Given the description of an element on the screen output the (x, y) to click on. 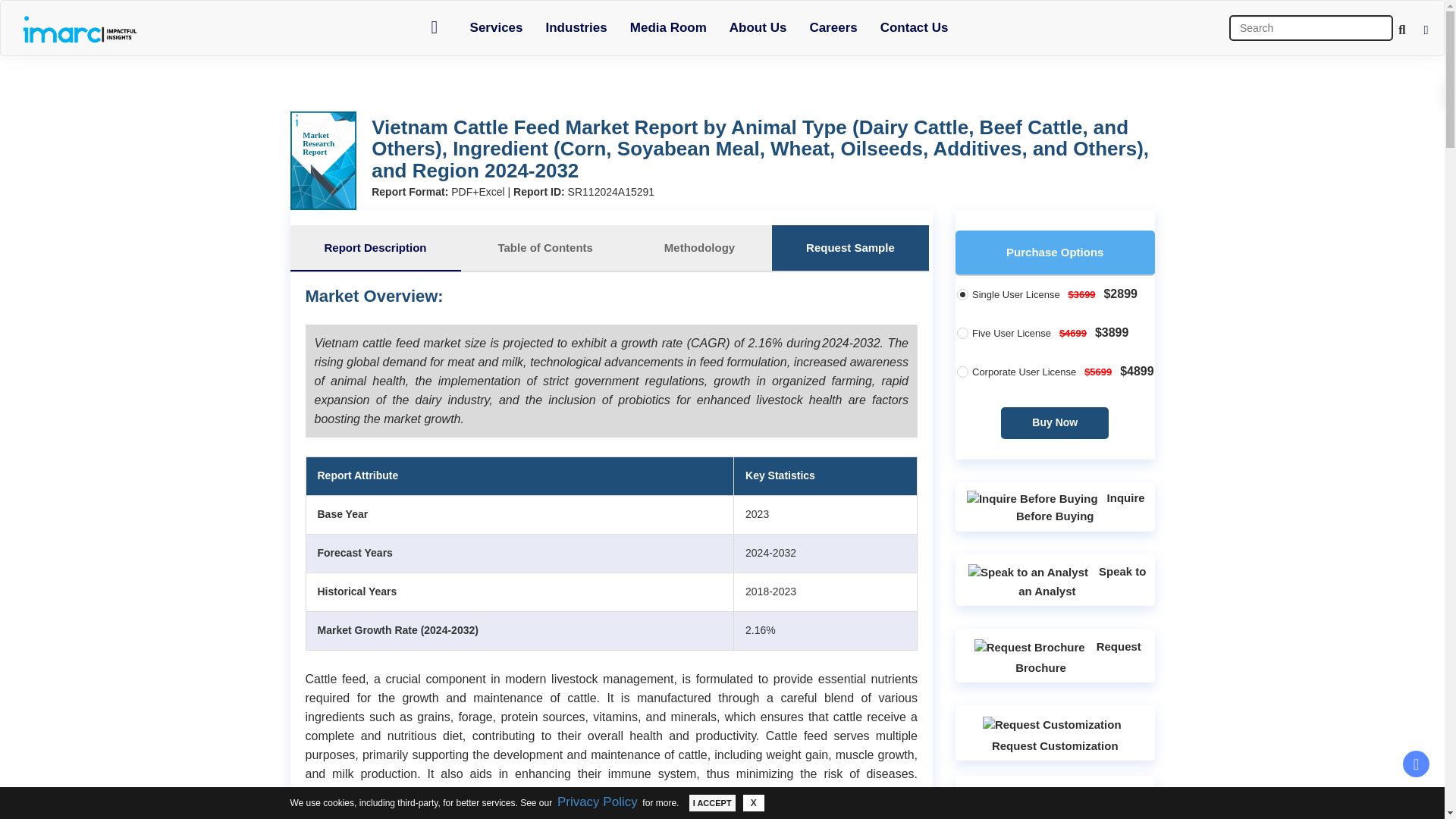
Careers (832, 27)
Media Room (667, 27)
Industries (576, 27)
Contact Us (914, 27)
About Us (757, 27)
Services (496, 27)
